Given the description of an element on the screen output the (x, y) to click on. 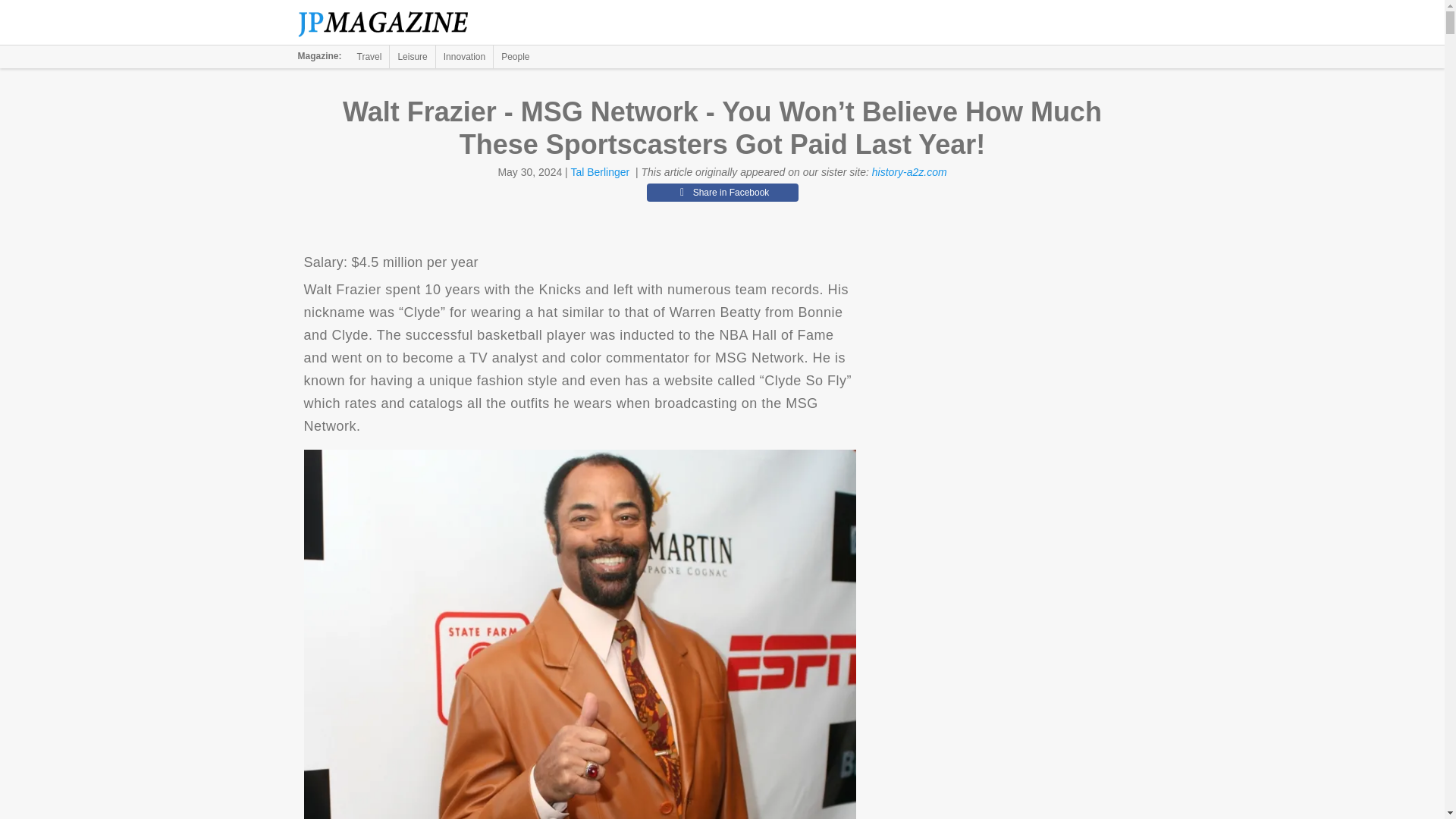
Leisure (411, 56)
Share in Facebook (721, 192)
Travel (369, 56)
Tal Berlinger (599, 172)
The Jerusalem Post Magazine (391, 22)
history-a2z.com (909, 172)
People (515, 56)
Innovation (464, 56)
